Given the description of an element on the screen output the (x, y) to click on. 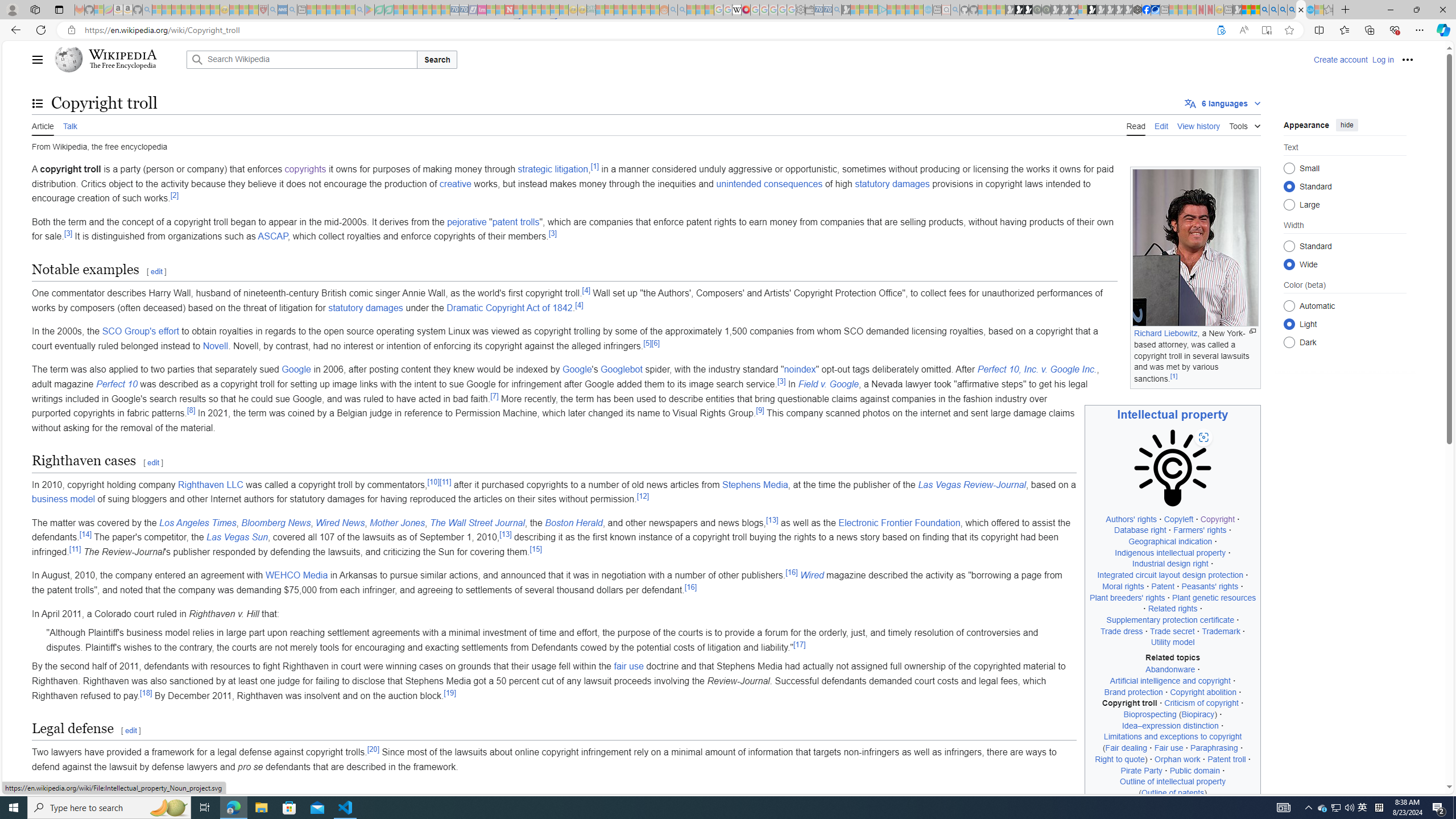
[8] (191, 409)
The Wall Street Journal (477, 522)
Expert Portfolios - Sleeping (627, 9)
Play Zoo Boom in your browser | Games from Microsoft Start (1018, 9)
Google (577, 369)
utah sues federal government - Search - Sleeping (291, 9)
Trade dress (1120, 630)
